Given the description of an element on the screen output the (x, y) to click on. 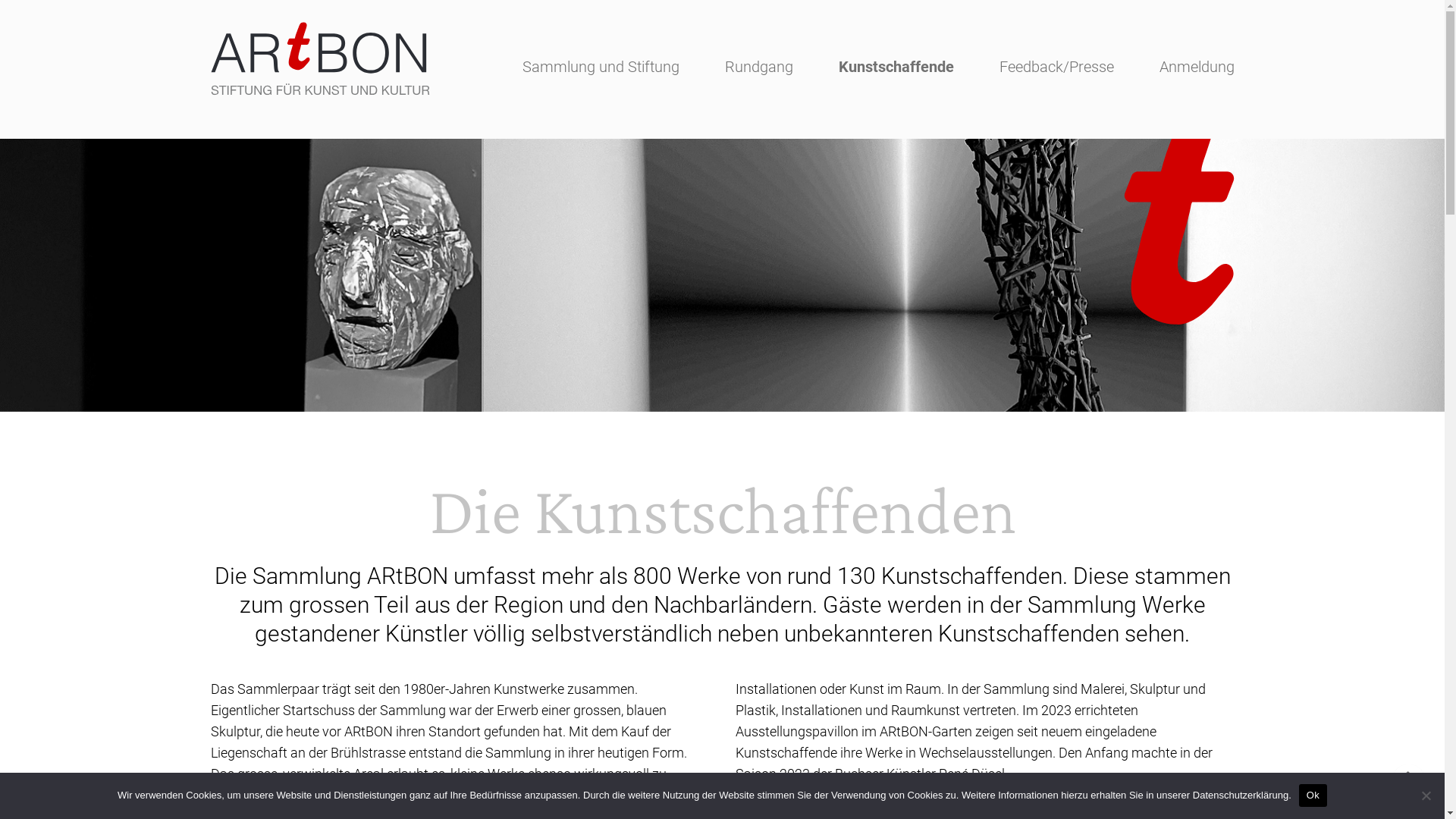
Feedback/Presse Element type: text (1056, 66)
Anmeldung Element type: text (1195, 66)
Ok Element type: text (1313, 795)
Rundgang Element type: text (758, 66)
Kunstschaffende Element type: text (895, 66)
Sammlung und Stiftung Element type: text (599, 66)
